Given the description of an element on the screen output the (x, y) to click on. 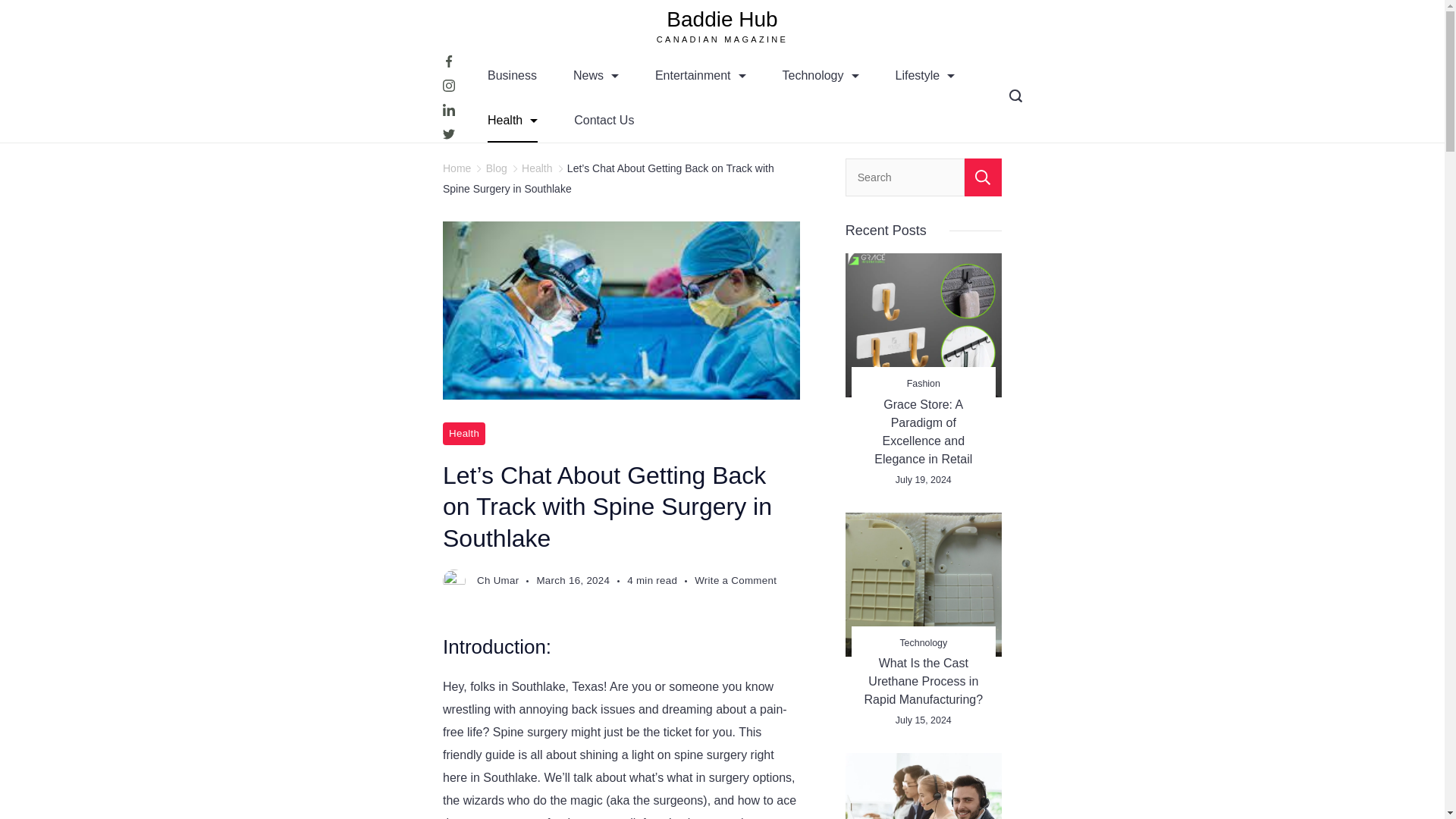
Lifestyle (924, 75)
Business (511, 75)
Entertainment (700, 75)
News (595, 75)
Technology (820, 75)
Baddie Hub (721, 19)
Contact Us (604, 119)
Health (512, 119)
